Given the description of an element on the screen output the (x, y) to click on. 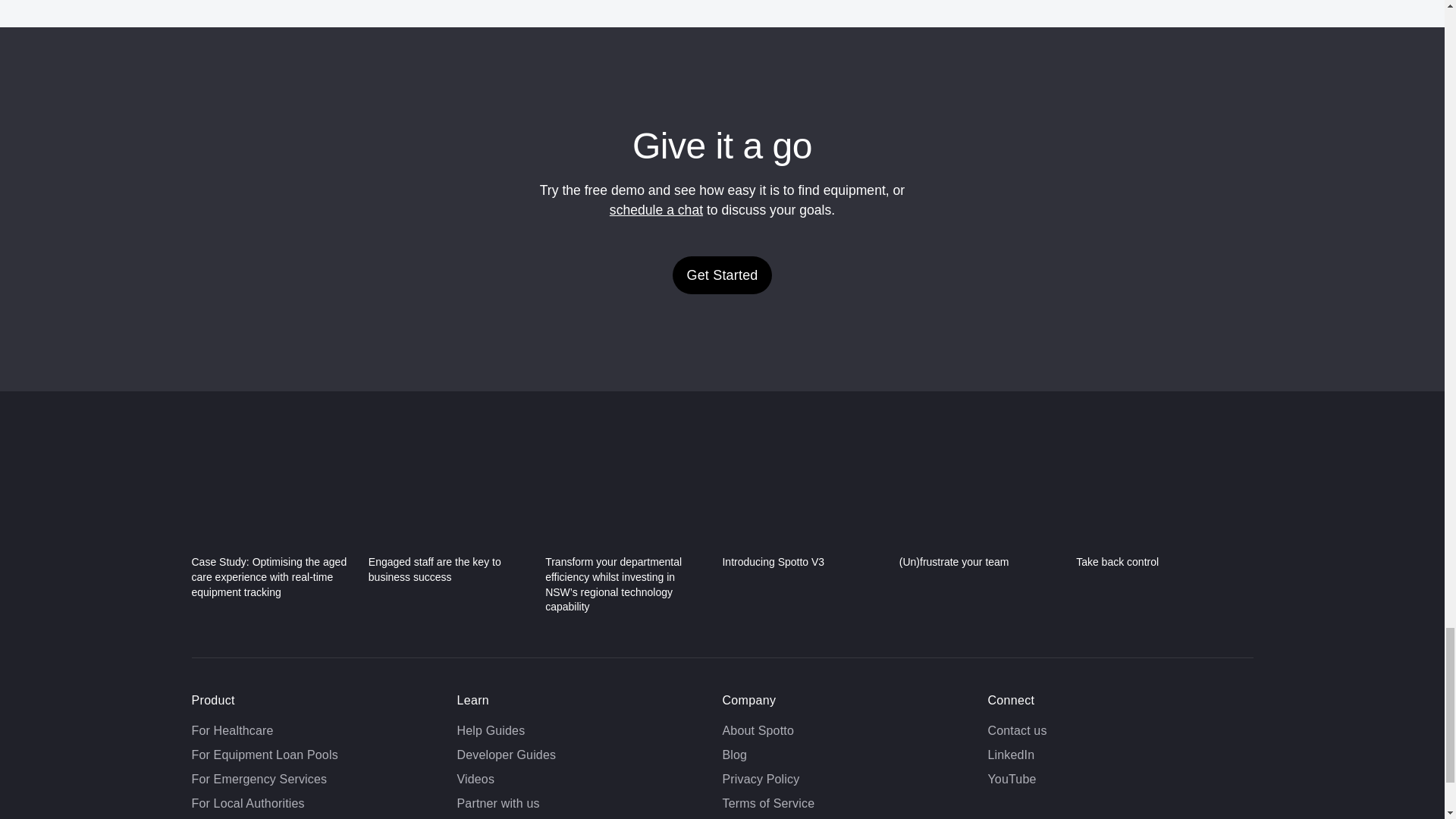
For Equipment Loan Pools (263, 754)
Privacy Policy (760, 779)
Get Started (721, 275)
For Emergency Services (258, 779)
Take back control (1157, 510)
Developer Guides (506, 754)
Partner with us (497, 802)
Help Guides (490, 730)
For Healthcare (231, 730)
Videos (476, 779)
Introducing Spotto V3 (804, 510)
For Local Authorities (247, 802)
Engaged staff are the key to business success (450, 517)
schedule a chat (656, 209)
